Given the description of an element on the screen output the (x, y) to click on. 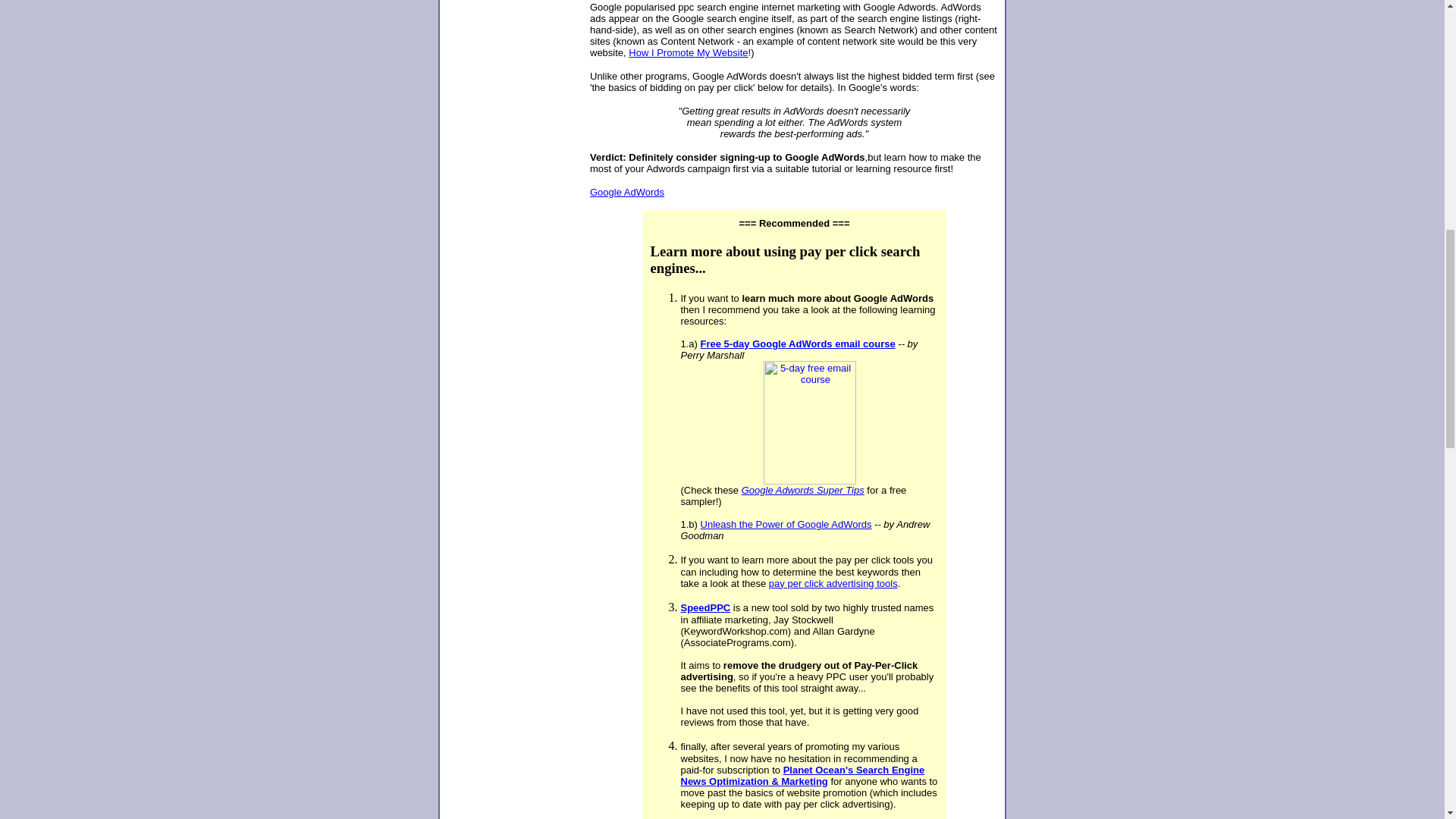
Google Adwords Super Tips (802, 490)
Free 5-day Google AdWords email course (797, 343)
pay per click advertising tools (833, 583)
Google AdWords (626, 191)
How I Promote My Website (688, 52)
Unleash the Power of Google AdWords (786, 523)
SpeedPPC (705, 606)
